Given the description of an element on the screen output the (x, y) to click on. 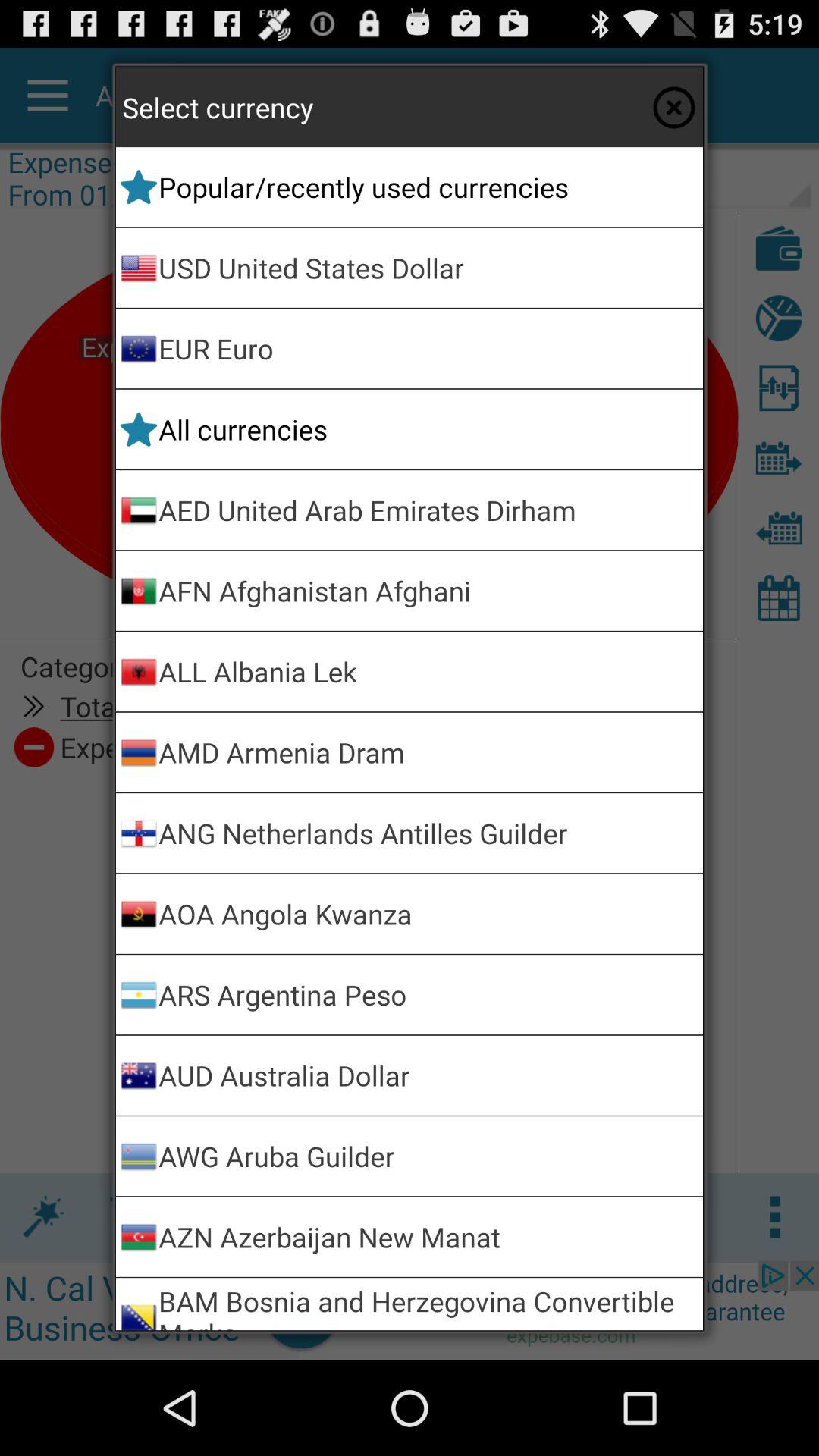
launch the app below the ang netherlands antilles icon (427, 913)
